Given the description of an element on the screen output the (x, y) to click on. 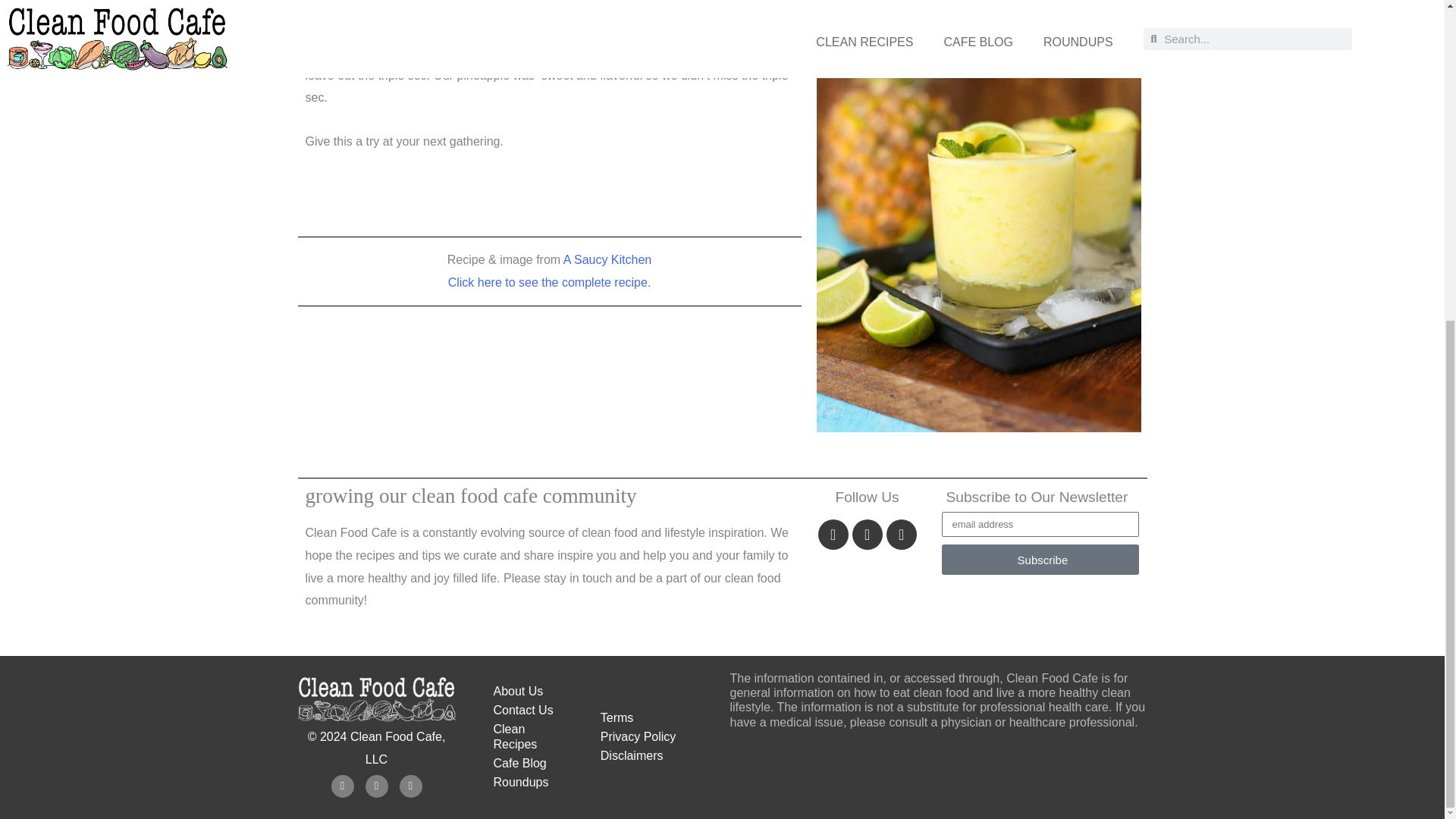
Cafe Blog (531, 763)
Click here to see the complete recipe. (549, 282)
Instagram (866, 534)
Contact Us (531, 710)
Roundups (531, 782)
Instagram (376, 785)
growing our clean food cafe community (470, 495)
Privacy Policy (656, 736)
Facebook (833, 534)
Subscribe (1040, 559)
